Given the description of an element on the screen output the (x, y) to click on. 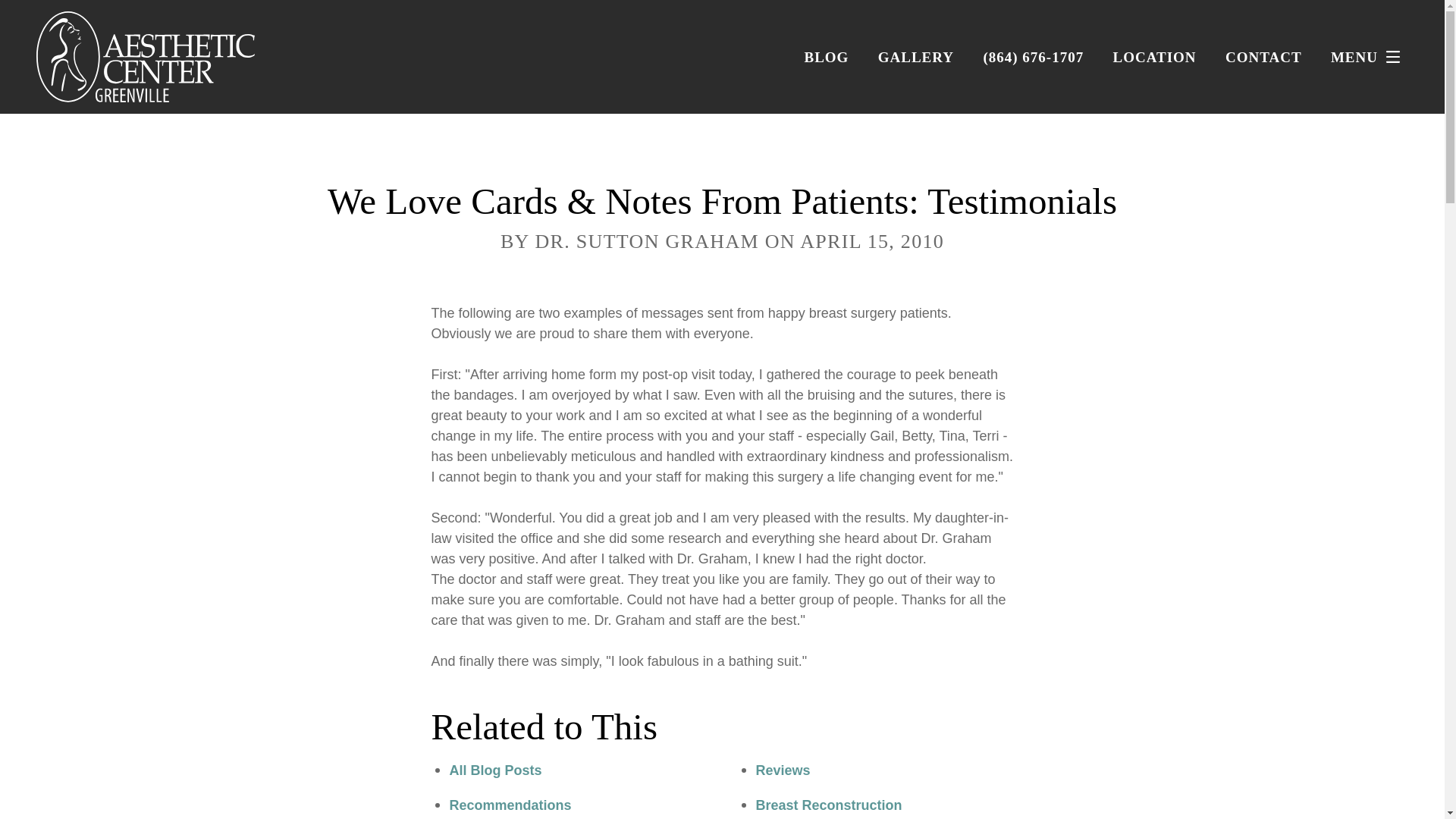
Recommendations (509, 805)
Reviews (782, 770)
CONTACT (1263, 56)
All Blog Posts (494, 770)
BLOG (825, 56)
Breast Reconstruction (828, 805)
GALLERY (915, 56)
MENU (1368, 56)
LOCATION (1154, 56)
